Given the description of an element on the screen output the (x, y) to click on. 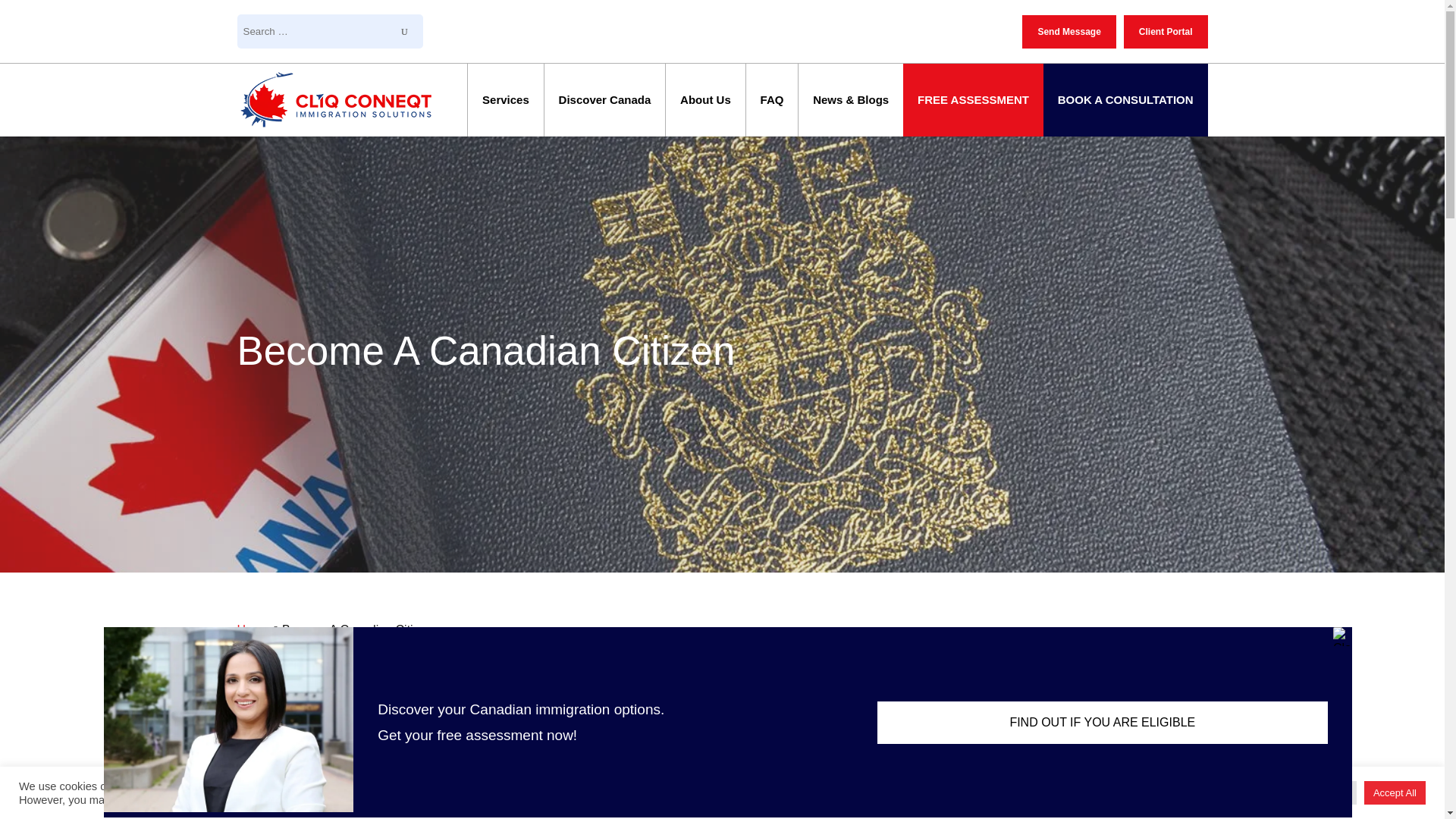
Close (1342, 693)
Send Message (1068, 31)
Services (505, 110)
About Us (704, 110)
BOOK A CONSULTATION (1125, 110)
Search for: (311, 31)
Canadian flags in the sky (978, 753)
Client Portal (1166, 31)
FREE ASSESSMENT (973, 110)
Discover Canada (604, 110)
Home (252, 629)
